Given the description of an element on the screen output the (x, y) to click on. 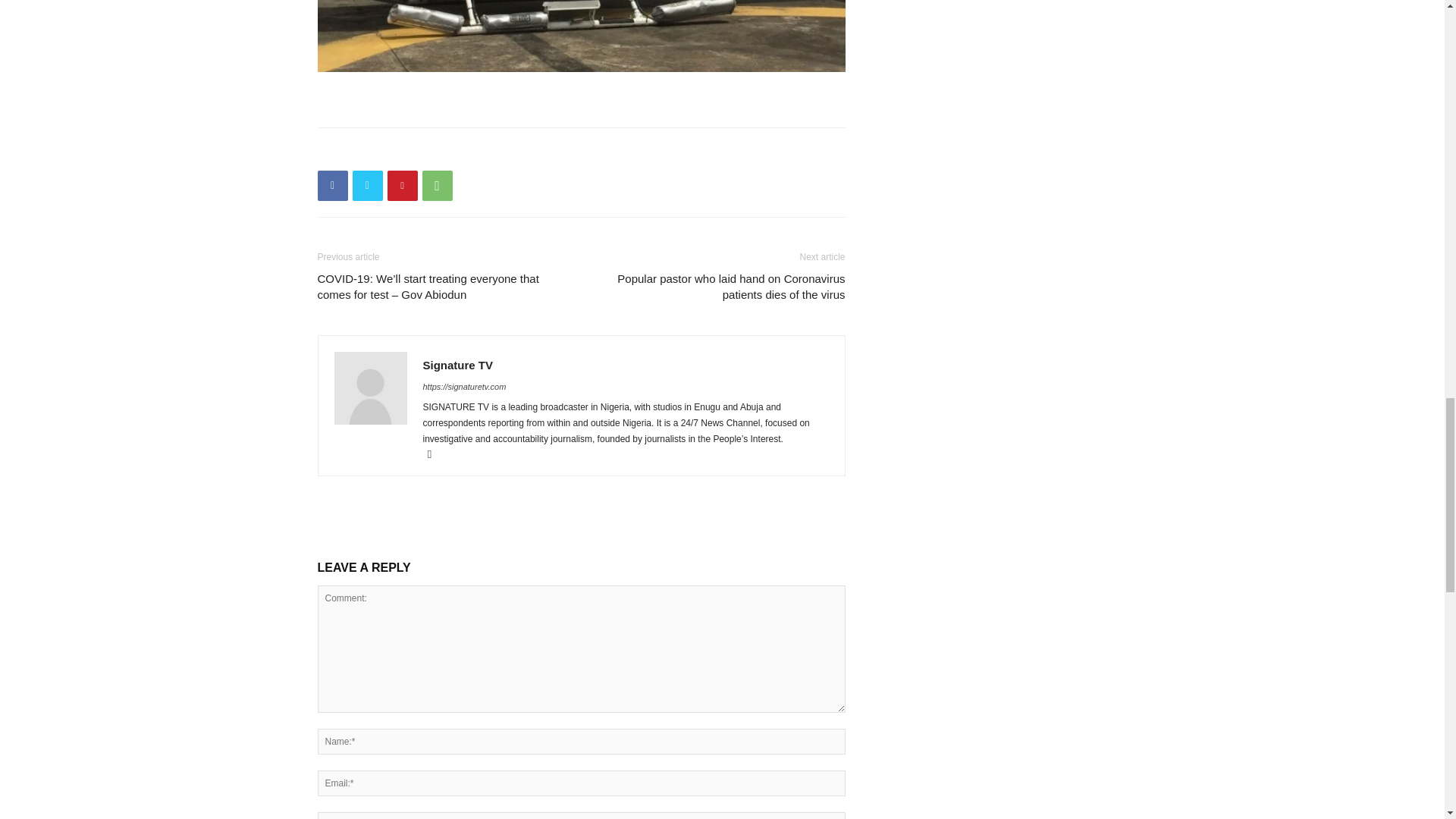
bottomFacebookLike (430, 151)
Twitter (366, 185)
Facebook (332, 185)
